Given the description of an element on the screen output the (x, y) to click on. 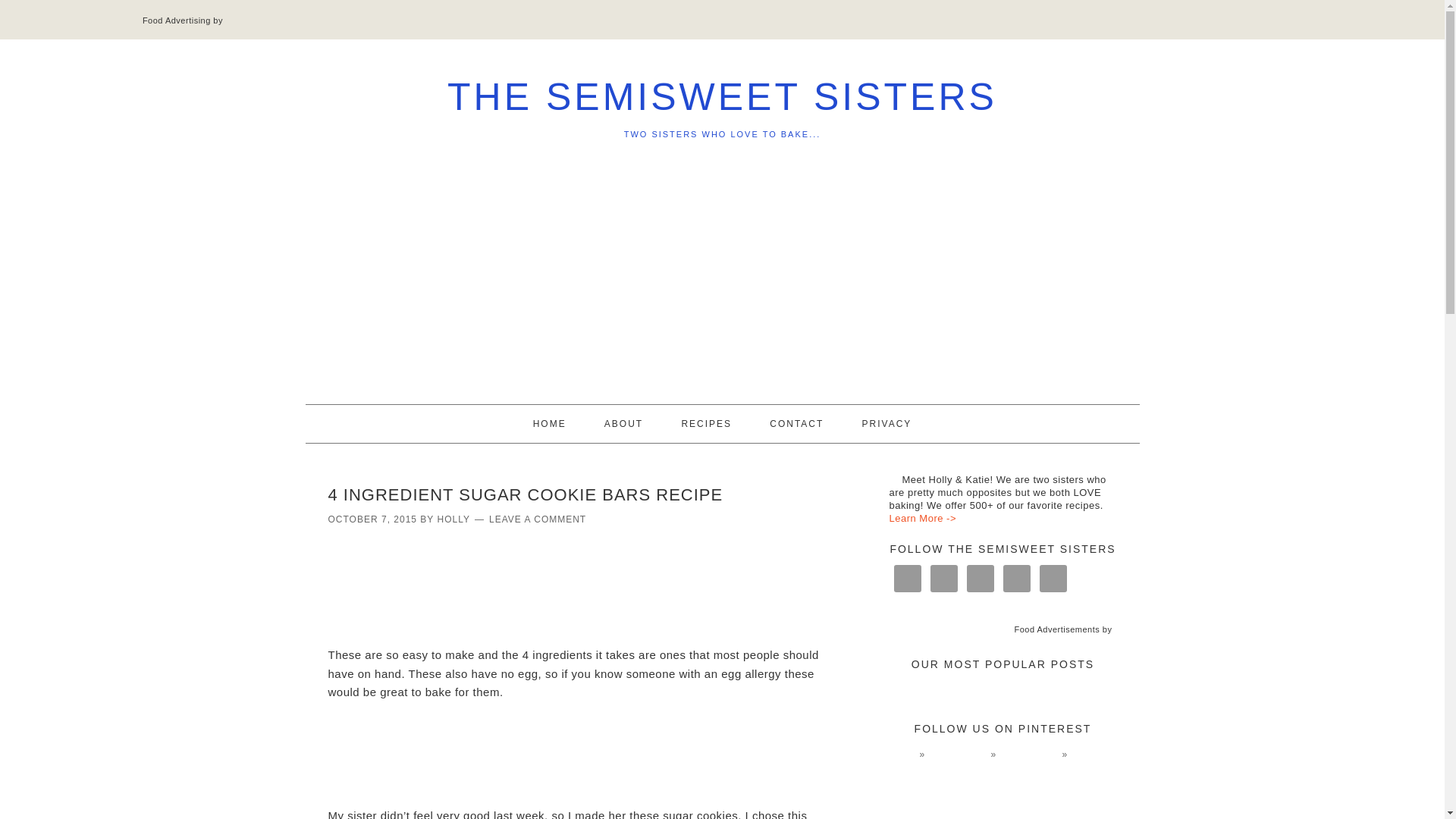
LEAVE A COMMENT (537, 519)
Food Advertising (176, 20)
HOME (549, 423)
CONTACT (796, 423)
HOLLY (452, 519)
Food Advertising (176, 20)
ABOUT (623, 423)
Food Advertisements (1056, 628)
RECIPES (705, 423)
THE SEMISWEET SISTERS (721, 96)
PRIVACY (886, 423)
Food Advertisements (1056, 628)
